Given the description of an element on the screen output the (x, y) to click on. 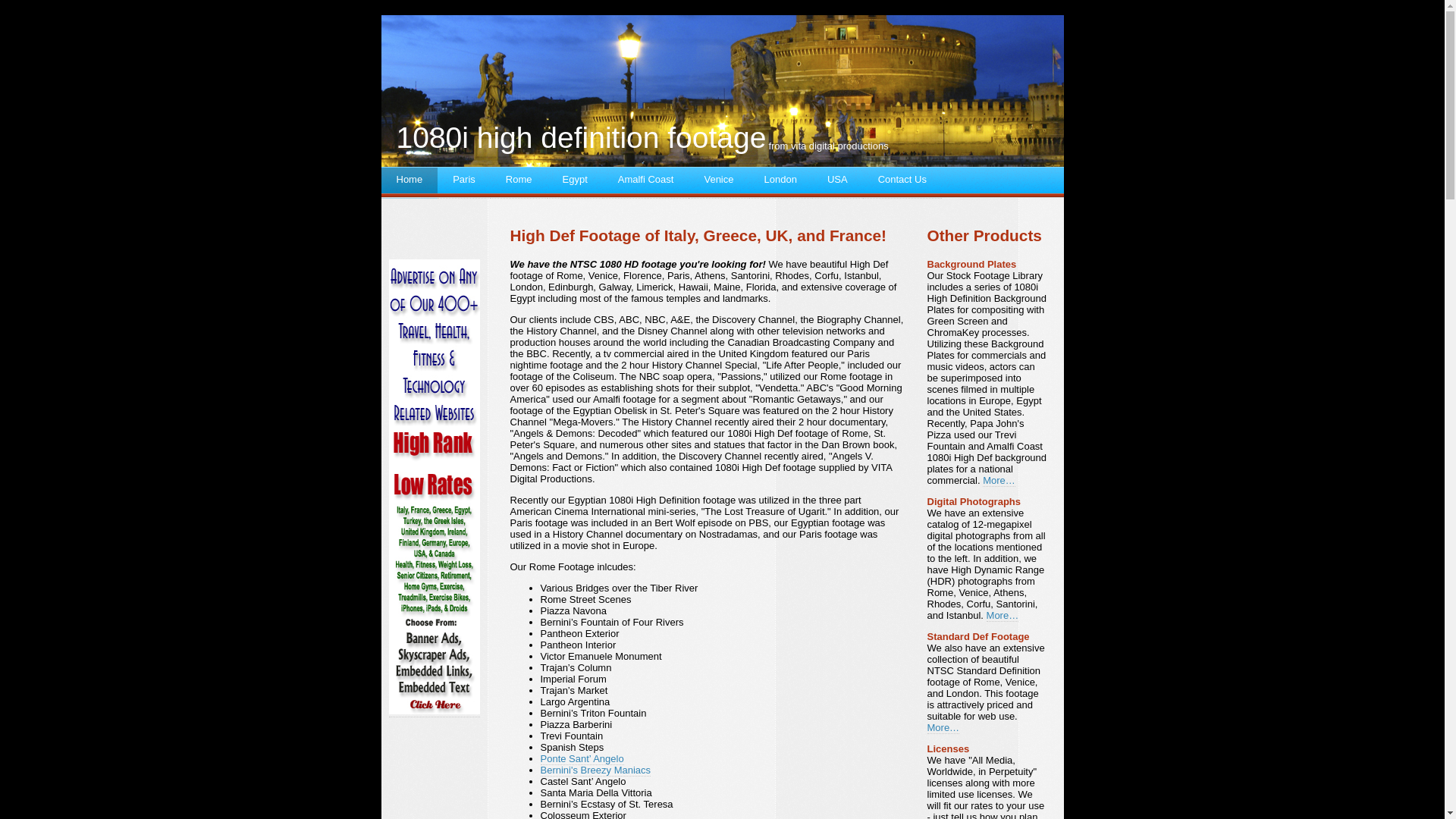
Paris Element type: text (463, 182)
Bernini's Breezy Maniacs Element type: text (594, 770)
Amalfi Coast Element type: text (645, 182)
Home Element type: text (408, 182)
from vita digital productions Element type: text (828, 145)
London Element type: text (780, 182)
1080i high definition footage Element type: text (580, 137)
USA Element type: text (837, 182)
Venice Element type: text (718, 182)
Contact Us Element type: text (901, 182)
Rome Element type: text (518, 182)
Egypt Element type: text (574, 182)
